Given the description of an element on the screen output the (x, y) to click on. 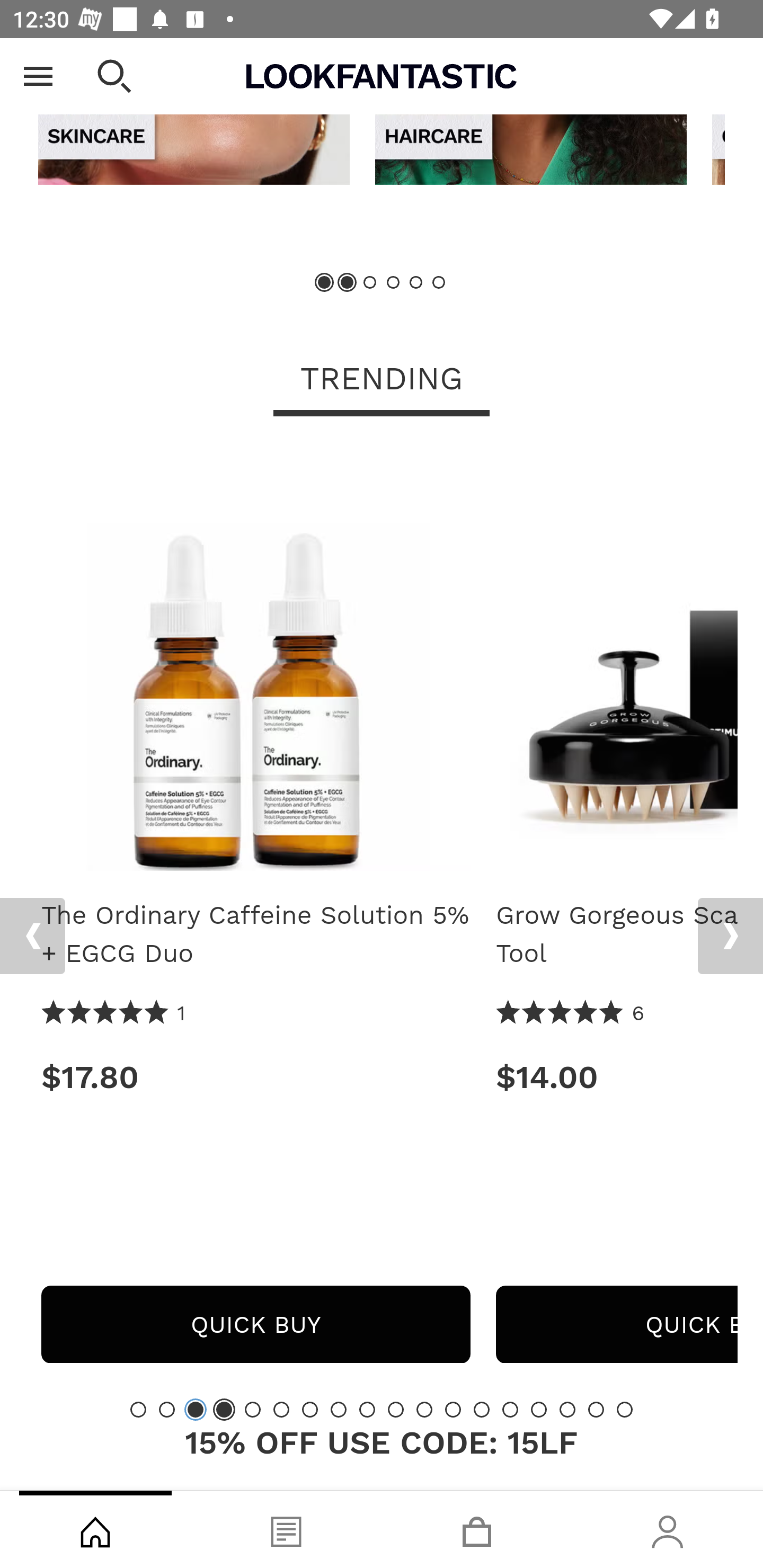
Previous (35, 64)
Showing Slide 1 (Current Item) (324, 282)
Showing Slide 2 (Current Item) (347, 282)
Slide 3 (369, 282)
Slide 4 (393, 282)
Slide 5 (415, 282)
Slide 6 (437, 282)
TRENDING (381, 381)
The Ordinary Caffeine Solution 5% + EGCG Duo (255, 663)
Grow Gorgeous Scalp Massage Tool (616, 663)
The Ordinary Caffeine Solution 5% + EGCG Duo (255, 935)
Grow Gorgeous Scalp Massage Tool (616, 935)
Previous (32, 936)
Next (730, 936)
5.0 Stars 1 Reviews (113, 1014)
5.0 Stars 6 Reviews (570, 1014)
Price: $17.80 (255, 1077)
Price: $14.00 (616, 1077)
QUICK BUY GROW GORGEOUS SCALP MASSAGE TOOL (616, 1325)
Slide 1 (138, 1410)
Slide 2 (166, 1410)
Showing Slide 3 (Current Item) (195, 1410)
Showing Slide 4 (Current Item) (223, 1410)
Slide 5 (252, 1410)
Slide 6 (281, 1410)
Slide 7 (310, 1410)
Slide 8 (338, 1410)
Slide 9 (367, 1410)
Slide 10 (395, 1410)
Slide 11 (424, 1410)
Slide 12 (452, 1410)
Slide 13 (481, 1410)
Slide 14 (510, 1410)
Slide 15 (539, 1410)
Slide 16 (567, 1410)
Slide 17 (596, 1410)
Slide 18 (624, 1410)
Shop, tab, 1 of 4 (95, 1529)
Blog, tab, 2 of 4 (285, 1529)
Basket, tab, 3 of 4 (476, 1529)
Account, tab, 4 of 4 (667, 1529)
